Given the description of an element on the screen output the (x, y) to click on. 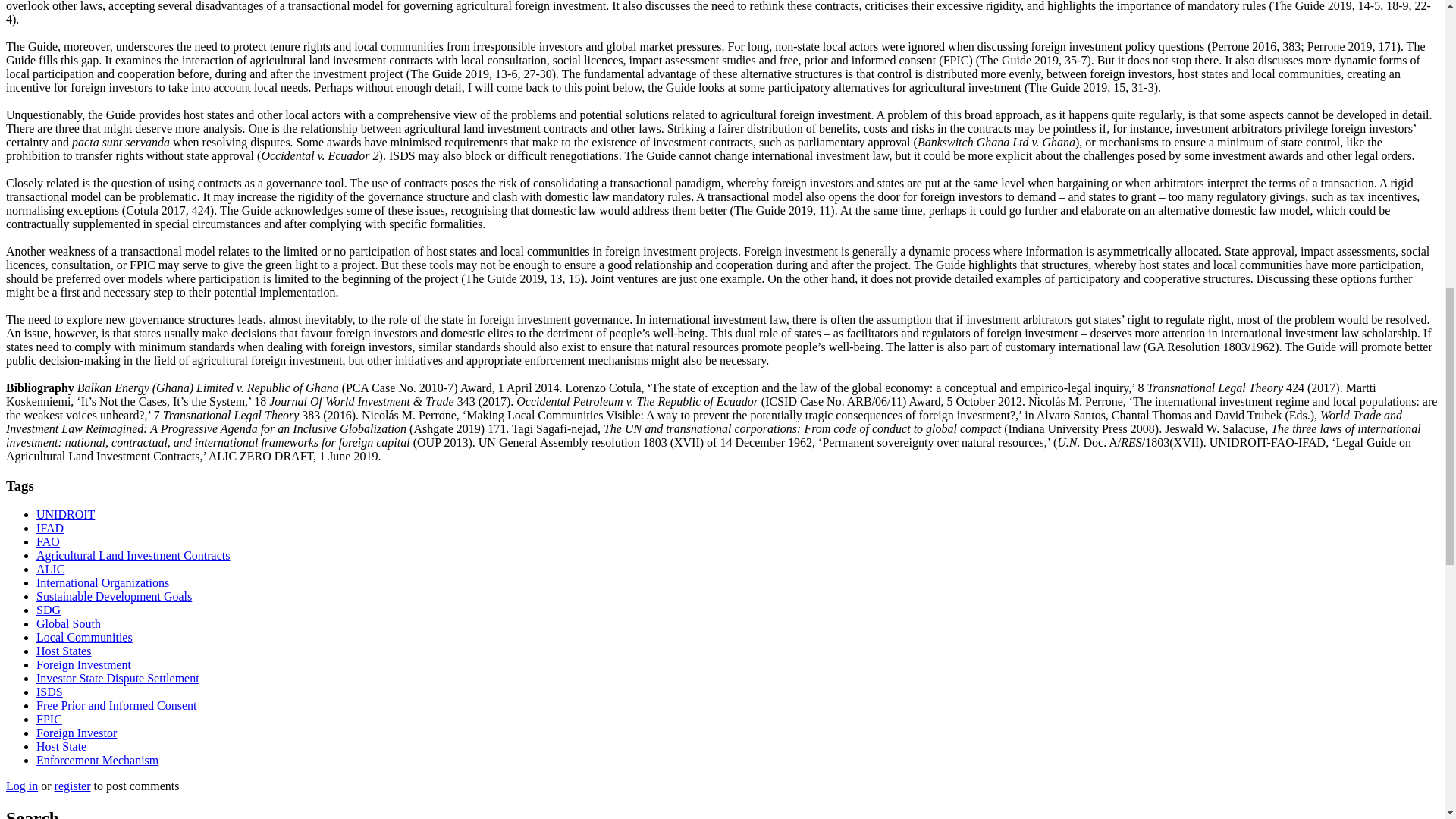
Local Communities (84, 636)
International Organizations (102, 582)
SDG (48, 609)
FAO (47, 541)
UNIDROIT (65, 513)
Foreign Investment (83, 664)
Agricultural Land Investment Contracts (133, 554)
Host States (63, 650)
Global South (68, 623)
ALIC (50, 568)
Sustainable Development Goals (114, 595)
IFAD (50, 527)
